Given the description of an element on the screen output the (x, y) to click on. 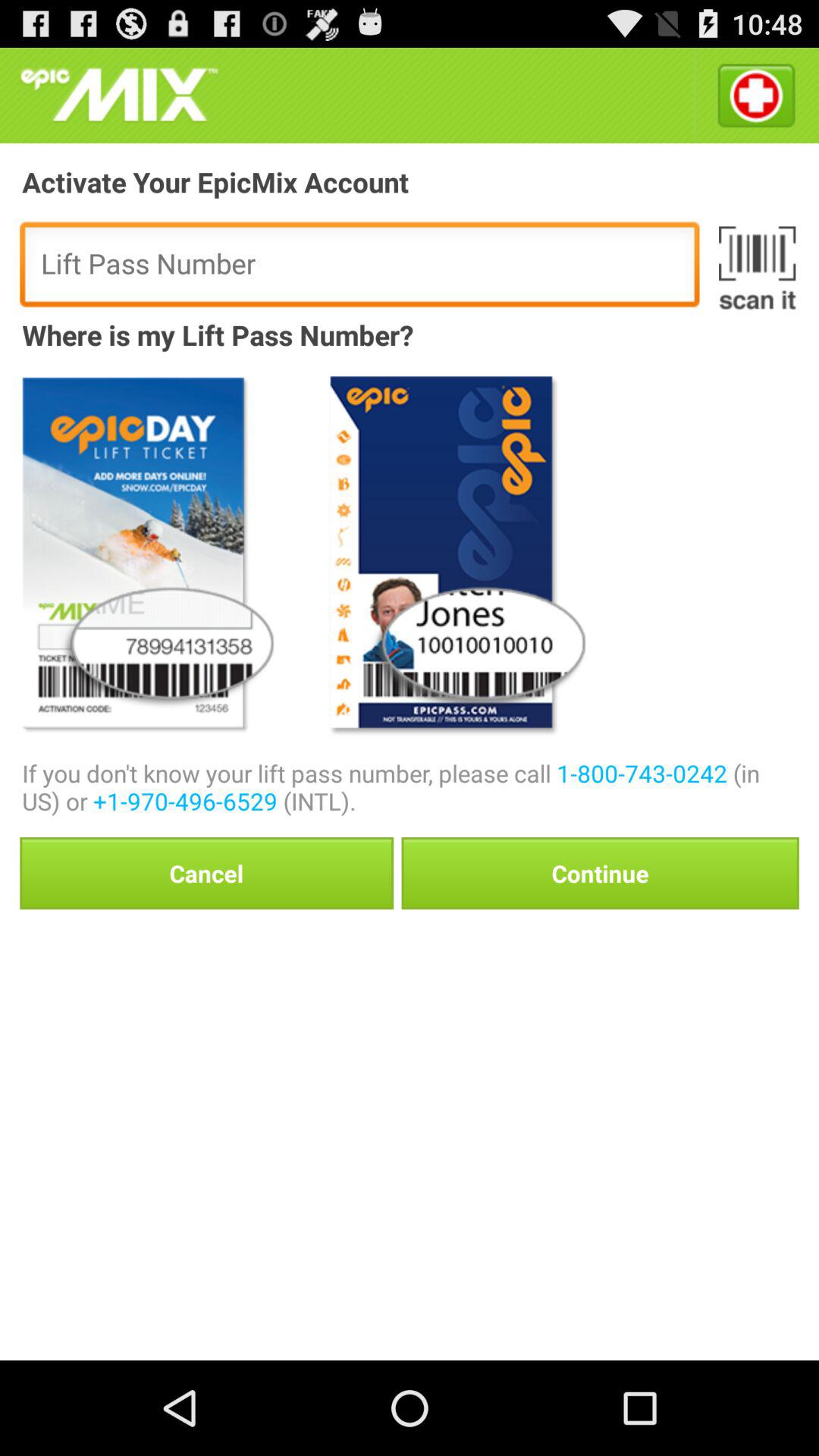
open the if you don icon (410, 787)
